Given the description of an element on the screen output the (x, y) to click on. 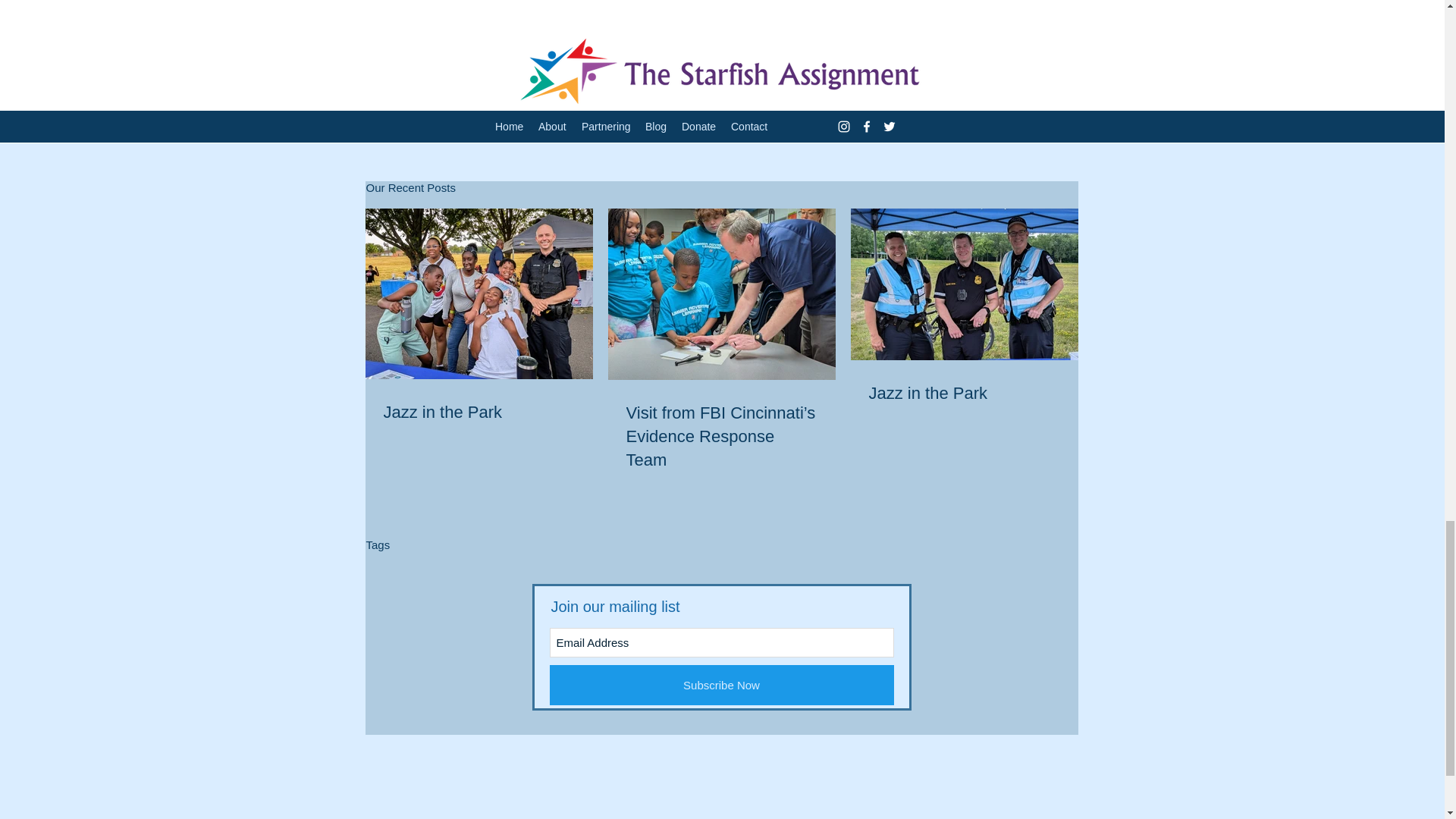
Subscribe Now (720, 685)
Jazz in the Park (479, 413)
Jazz in the Park (964, 393)
